Given the description of an element on the screen output the (x, y) to click on. 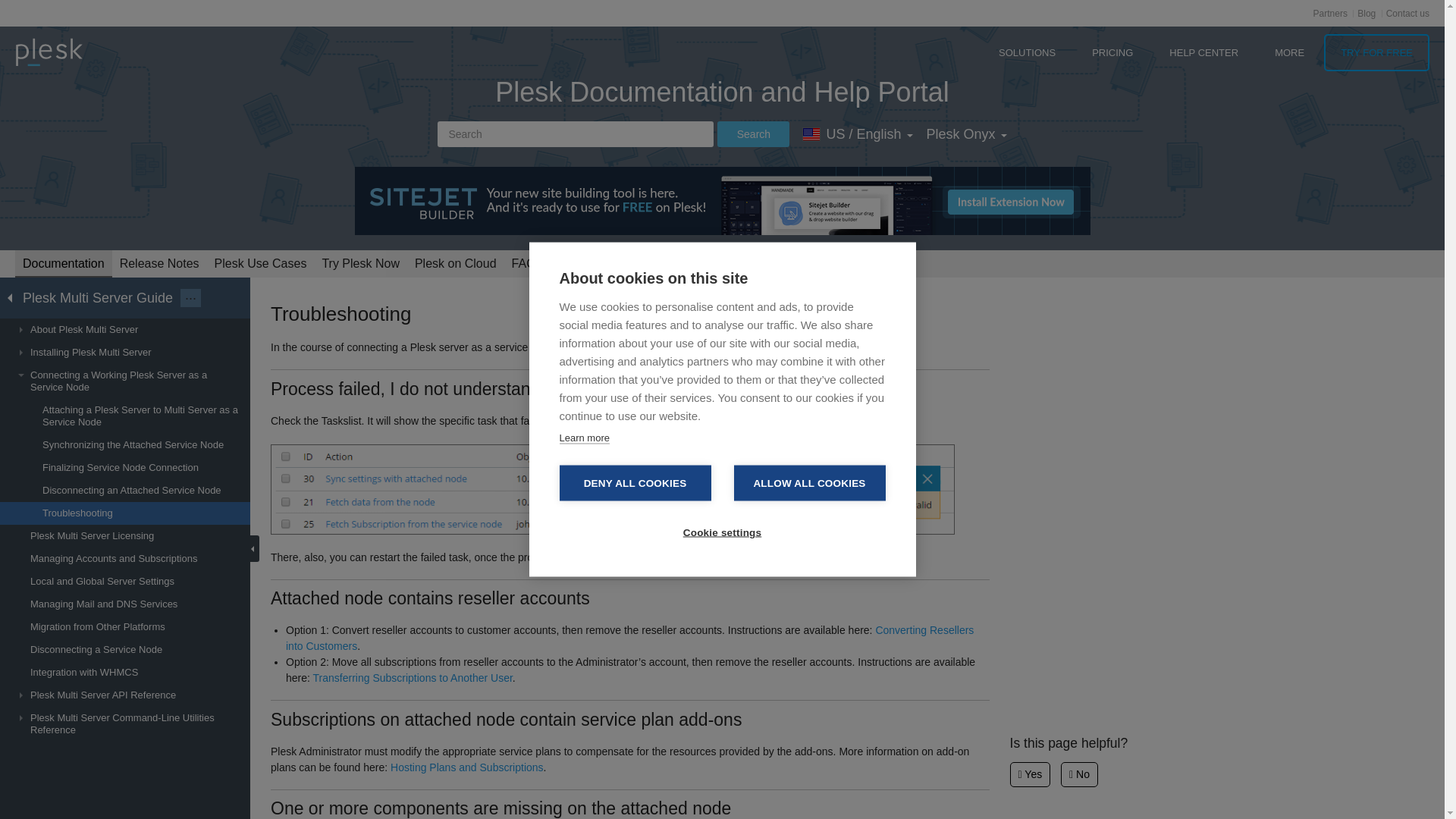
HELP CENTER (1204, 52)
MORE (1288, 52)
Sitejet Builder (722, 201)
TRY FOR FREE (1376, 52)
Cookie settings (721, 531)
Search (753, 134)
ALLOW ALL COOKIES (809, 483)
PRICING (1112, 52)
Contact us (1407, 13)
Blog (1365, 13)
SOLUTIONS (1026, 52)
Learn more (584, 438)
Plesk Onyx (966, 134)
Partners (1330, 13)
